Given the description of an element on the screen output the (x, y) to click on. 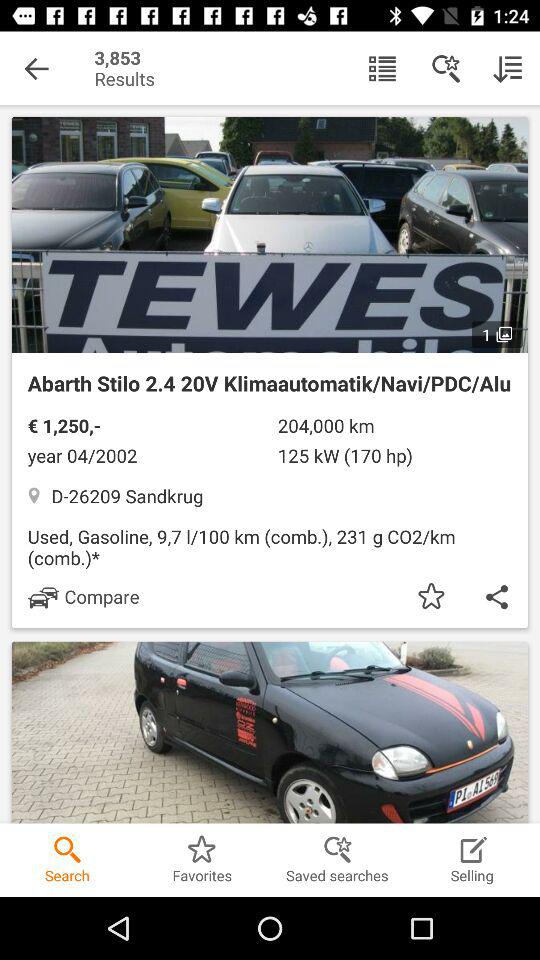
turn on item next to 3,853 item (36, 68)
